Given the description of an element on the screen output the (x, y) to click on. 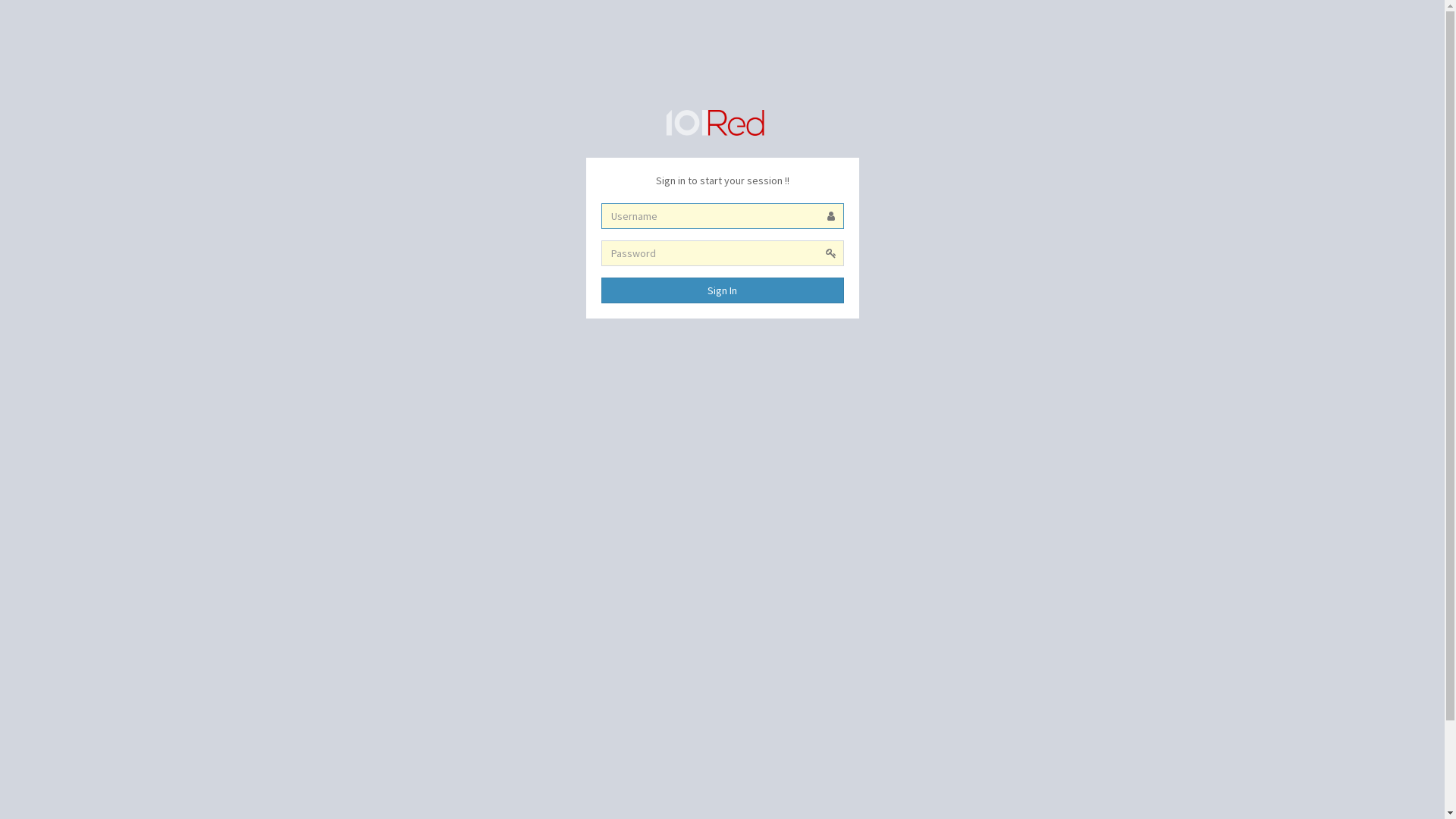
Sign In Element type: text (721, 290)
